Given the description of an element on the screen output the (x, y) to click on. 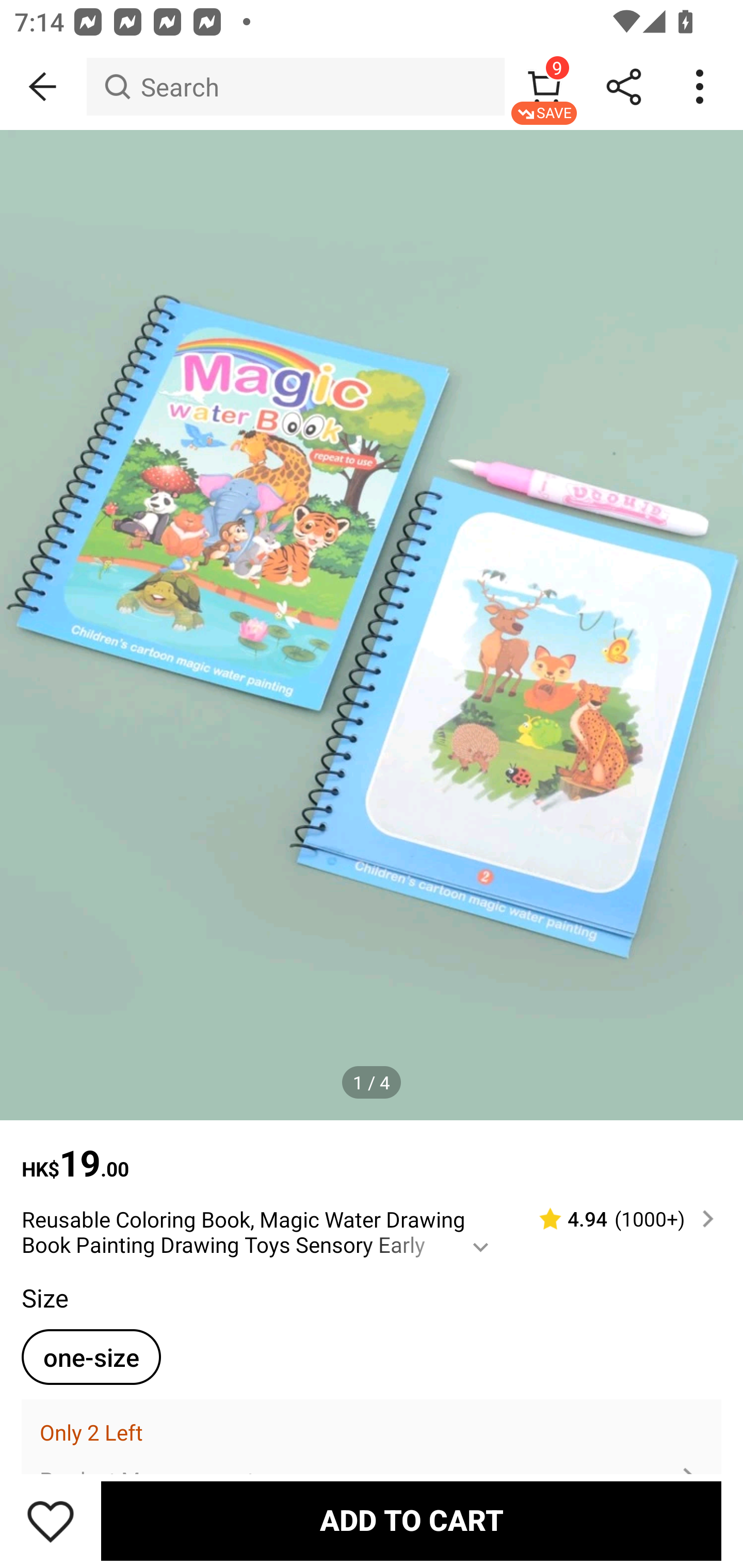
BACK (43, 86)
9 SAVE (543, 87)
Search (295, 87)
1 / 4 (371, 1082)
HK$19.00 (371, 1152)
4.94 (1000‎+) (617, 1219)
Size (44, 1297)
one-size one-sizeselected option (91, 1356)
ADD TO CART (411, 1520)
Save (50, 1520)
